Given the description of an element on the screen output the (x, y) to click on. 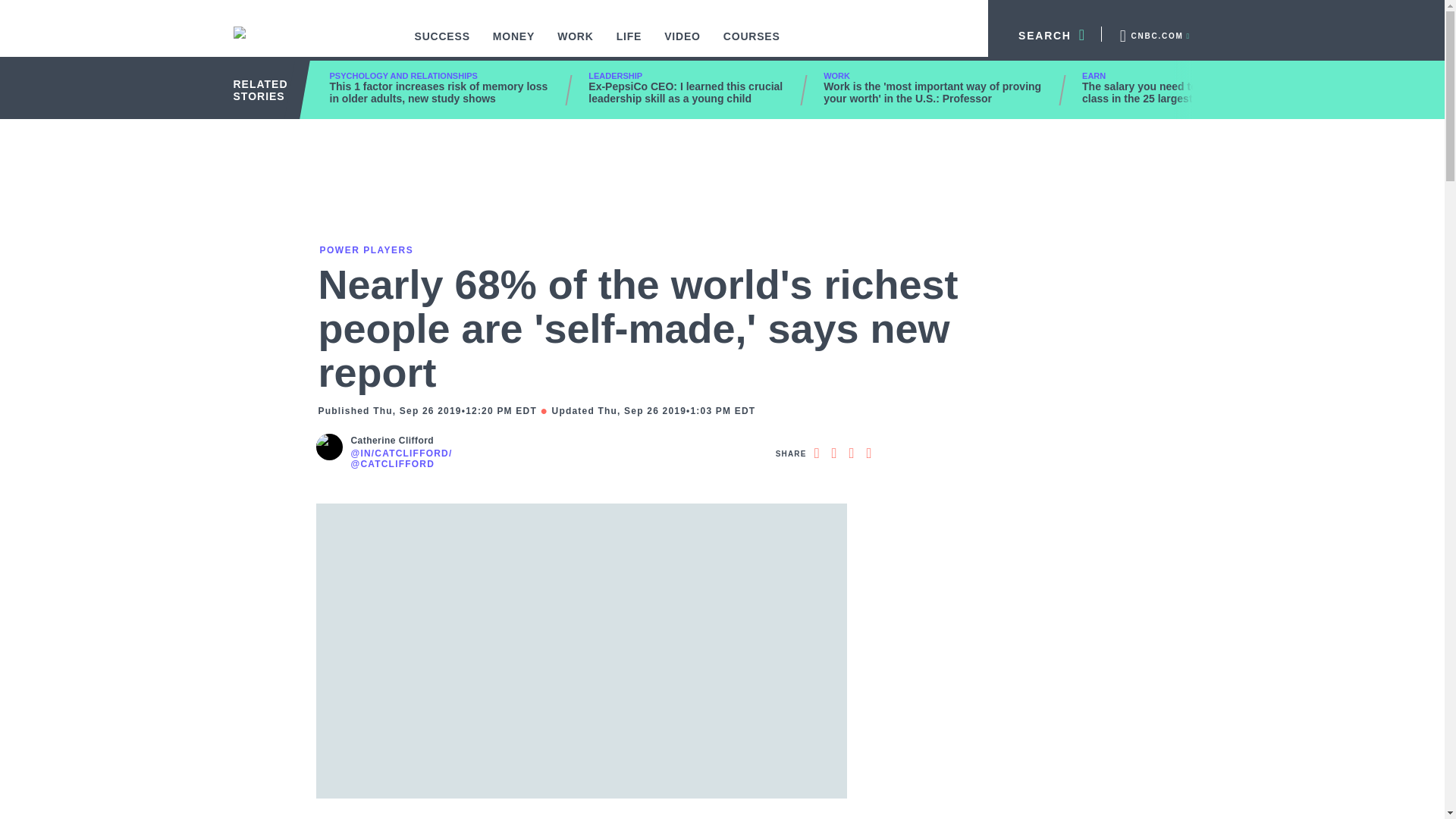
MONEY (513, 44)
LIFE (629, 44)
VIDEO (681, 44)
CNBC.COM (1153, 33)
SUCCESS (442, 44)
COURSES (751, 44)
POWER PLAYERS (365, 249)
WORK (575, 44)
SEARCH (1045, 33)
Catherine Clifford (400, 440)
